Given the description of an element on the screen output the (x, y) to click on. 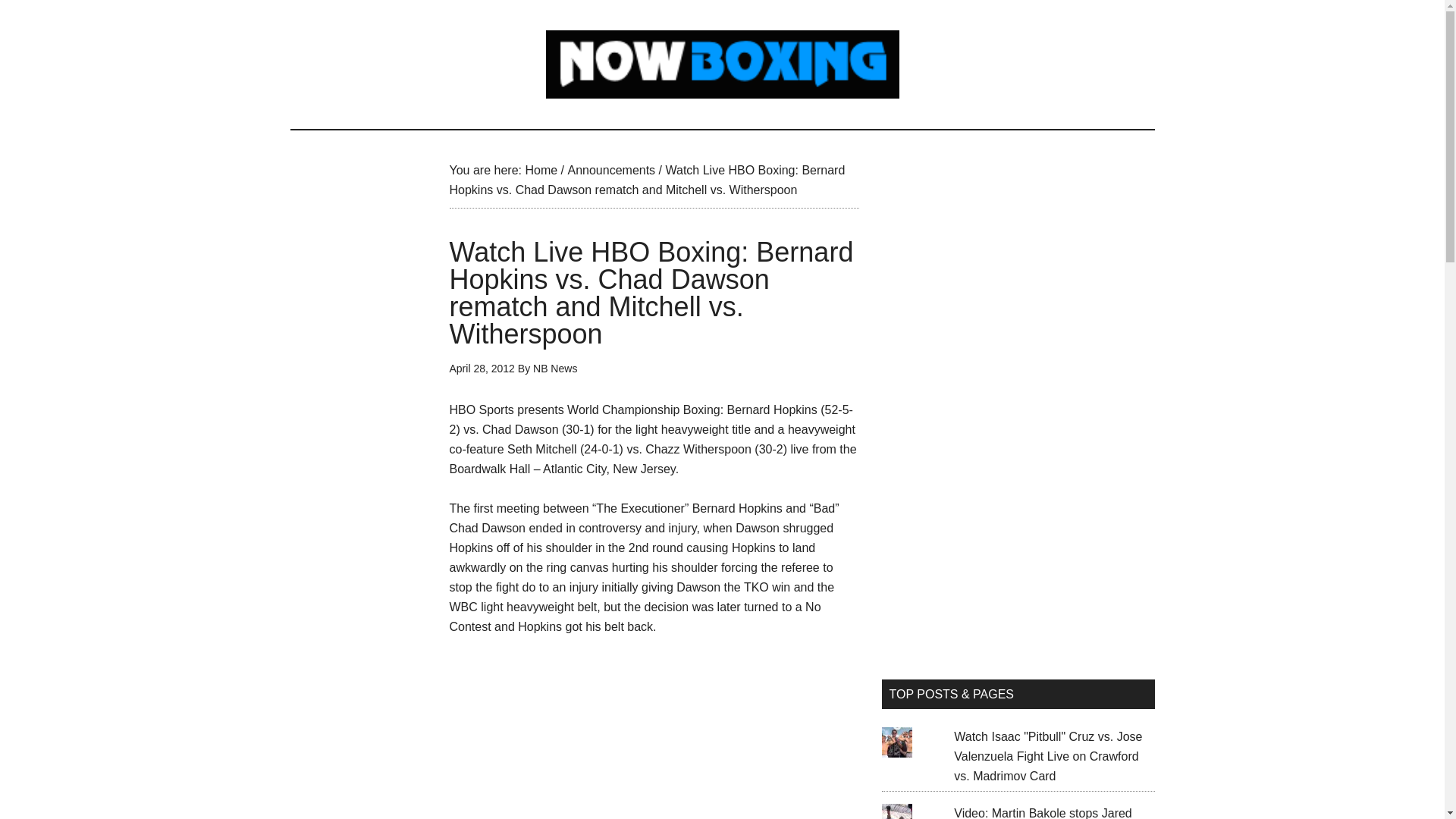
Announcements (611, 169)
Now Boxing (721, 64)
NB News (554, 368)
Home (540, 169)
